Given the description of an element on the screen output the (x, y) to click on. 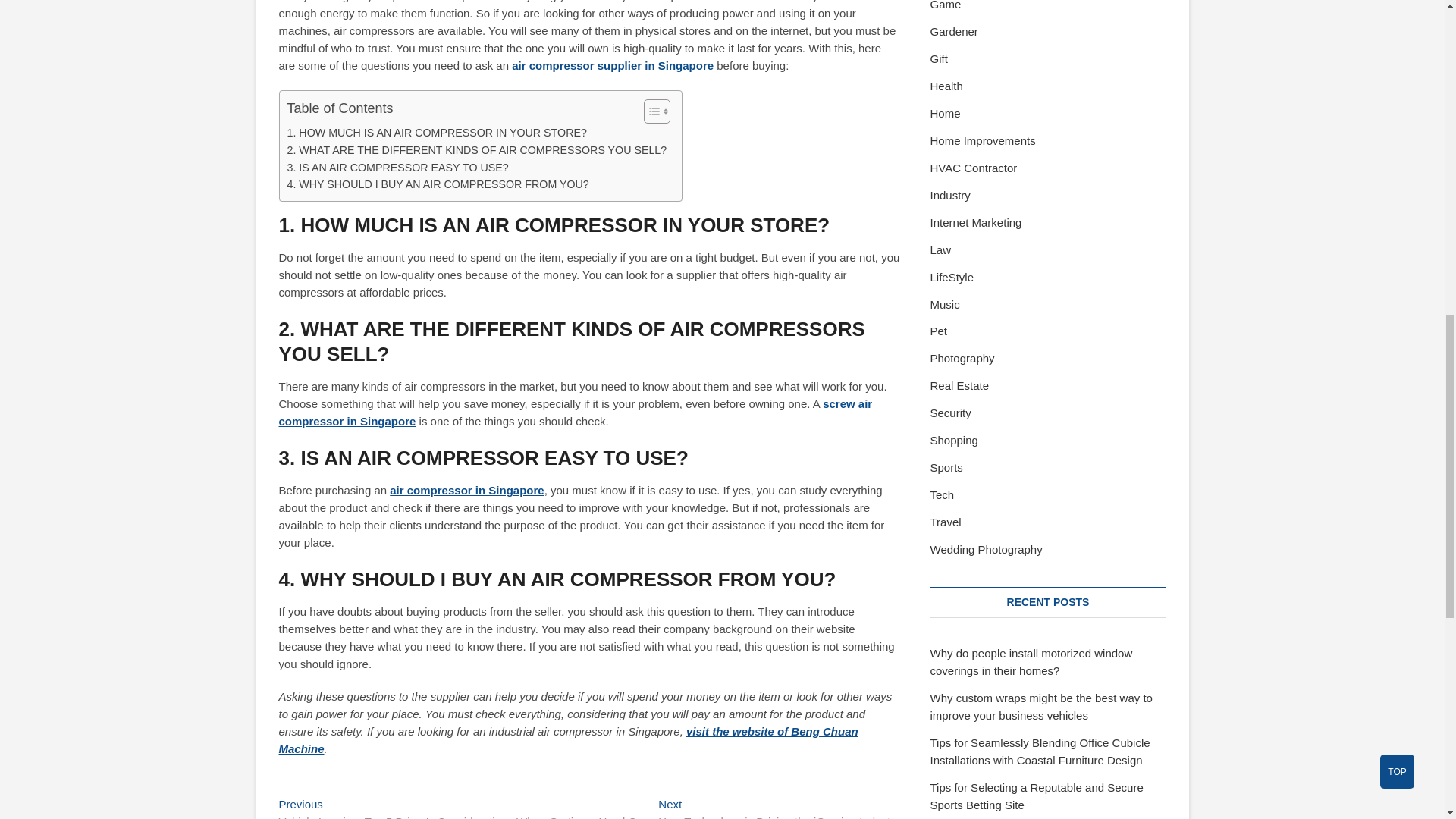
4. WHY SHOULD I BUY AN AIR COMPRESSOR FROM YOU? (437, 184)
3. IS AN AIR COMPRESSOR EASY TO USE? (397, 167)
air compressor supplier in Singapore (612, 65)
2. WHAT ARE THE DIFFERENT KINDS OF AIR COMPRESSORS YOU SELL? (476, 149)
1. HOW MUCH IS AN AIR COMPRESSOR IN YOUR STORE? (436, 132)
3. IS AN AIR COMPRESSOR EASY TO USE? (397, 167)
4. WHY SHOULD I BUY AN AIR COMPRESSOR FROM YOU? (437, 184)
2. WHAT ARE THE DIFFERENT KINDS OF AIR COMPRESSORS YOU SELL? (476, 149)
1. HOW MUCH IS AN AIR COMPRESSOR IN YOUR STORE? (436, 132)
